Given the description of an element on the screen output the (x, y) to click on. 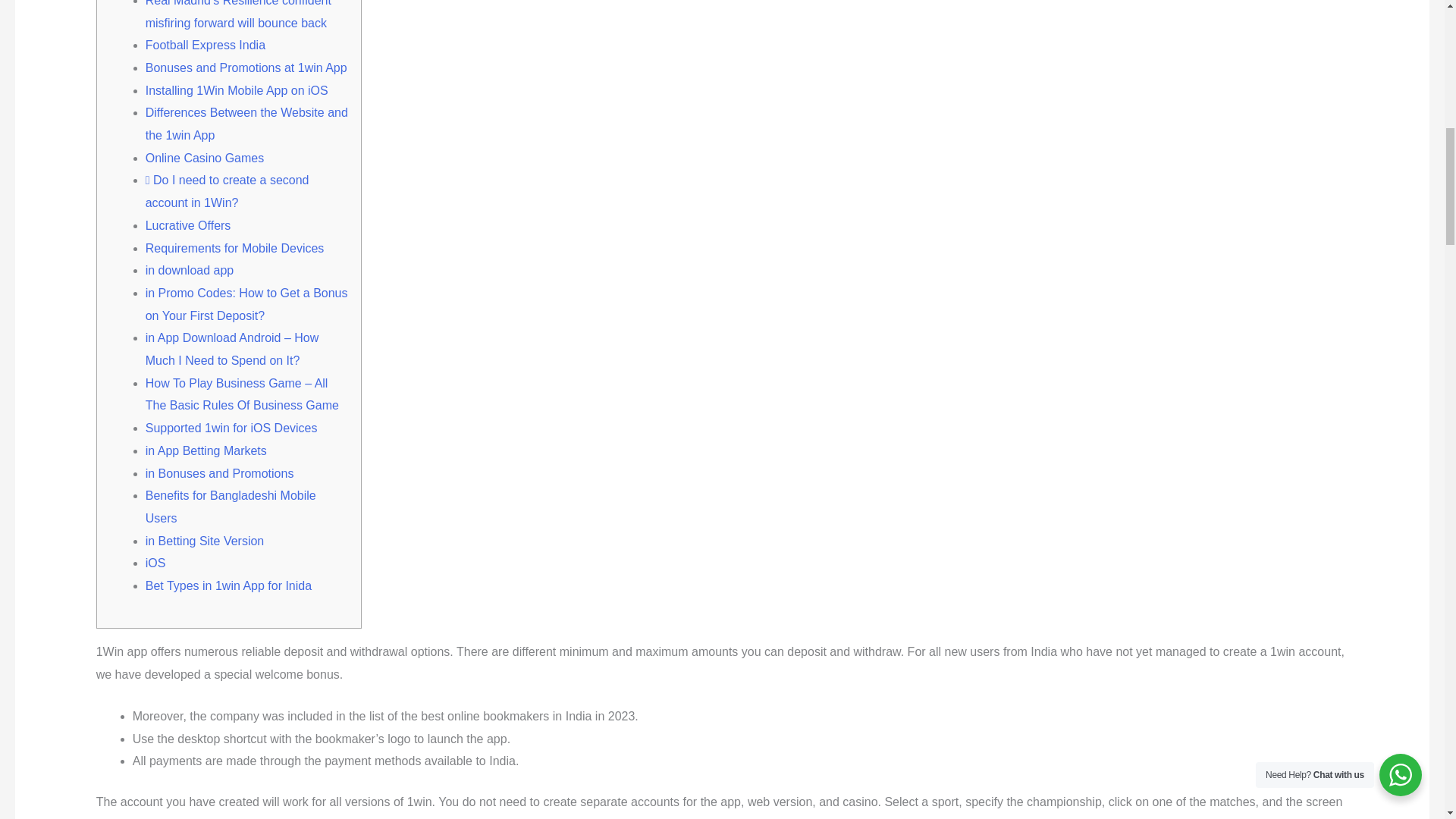
in Promo Codes: How to Get a Bonus on Your First Deposit? (246, 304)
Supported 1win for iOS Devices (231, 427)
Installing 1Win Mobile App on iOS (237, 90)
Lucrative Offers (188, 225)
Bonuses and Promotions at 1win App (246, 67)
Football Express India (204, 44)
Differences Between the Website and the 1win App (246, 123)
Requirements for Mobile Devices (234, 247)
in App Betting Markets (205, 450)
in download app (189, 269)
Online Casino Games (204, 157)
